Given the description of an element on the screen output the (x, y) to click on. 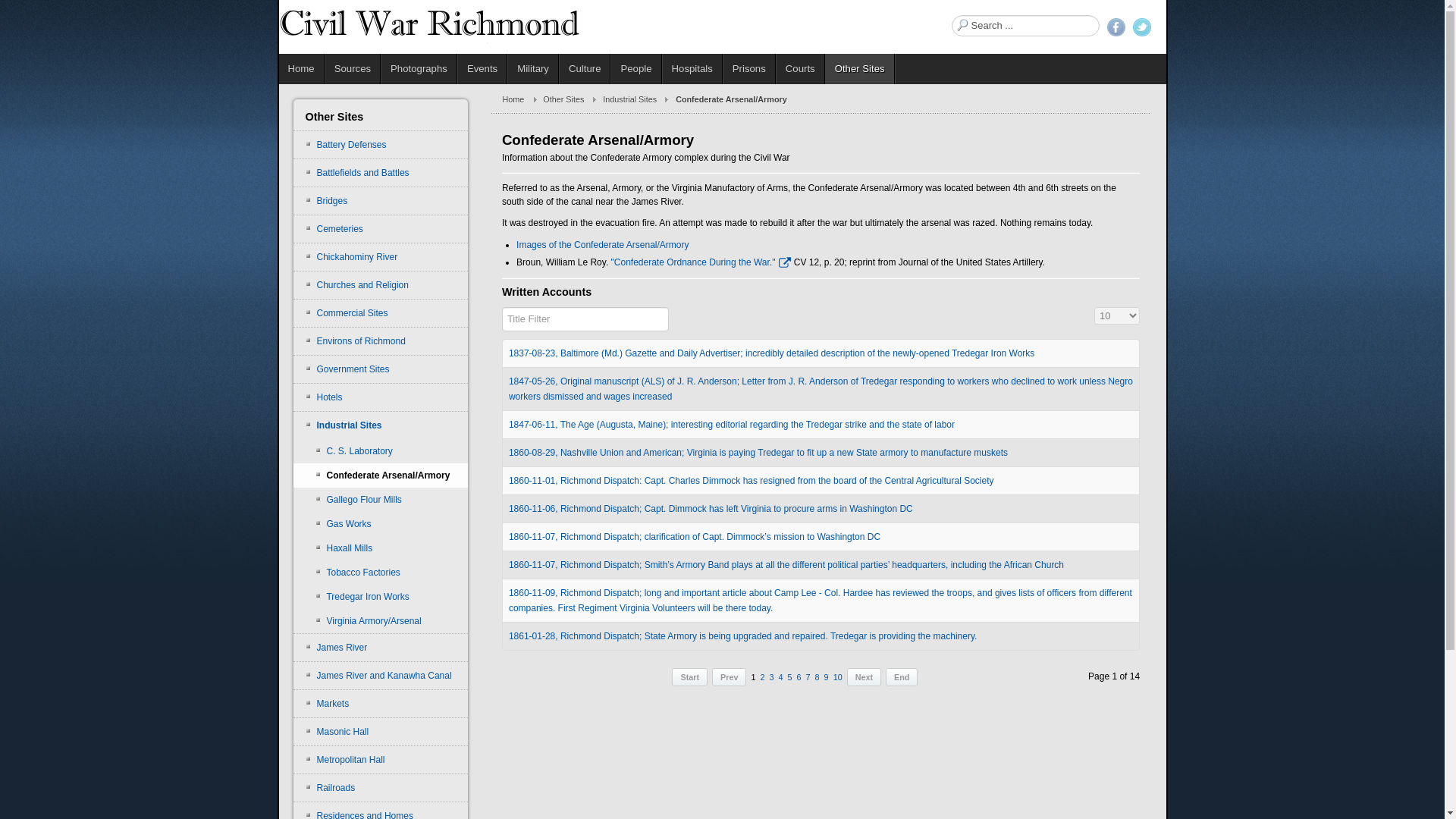
Home (301, 69)
Photographs (419, 69)
Facebook (1115, 27)
Home (522, 99)
End (901, 677)
People (636, 69)
Facebook (1115, 27)
Content Filter Search (585, 319)
Prisons (749, 69)
Culture (585, 69)
An online research project by Mike Gorman (429, 21)
